Given the description of an element on the screen output the (x, y) to click on. 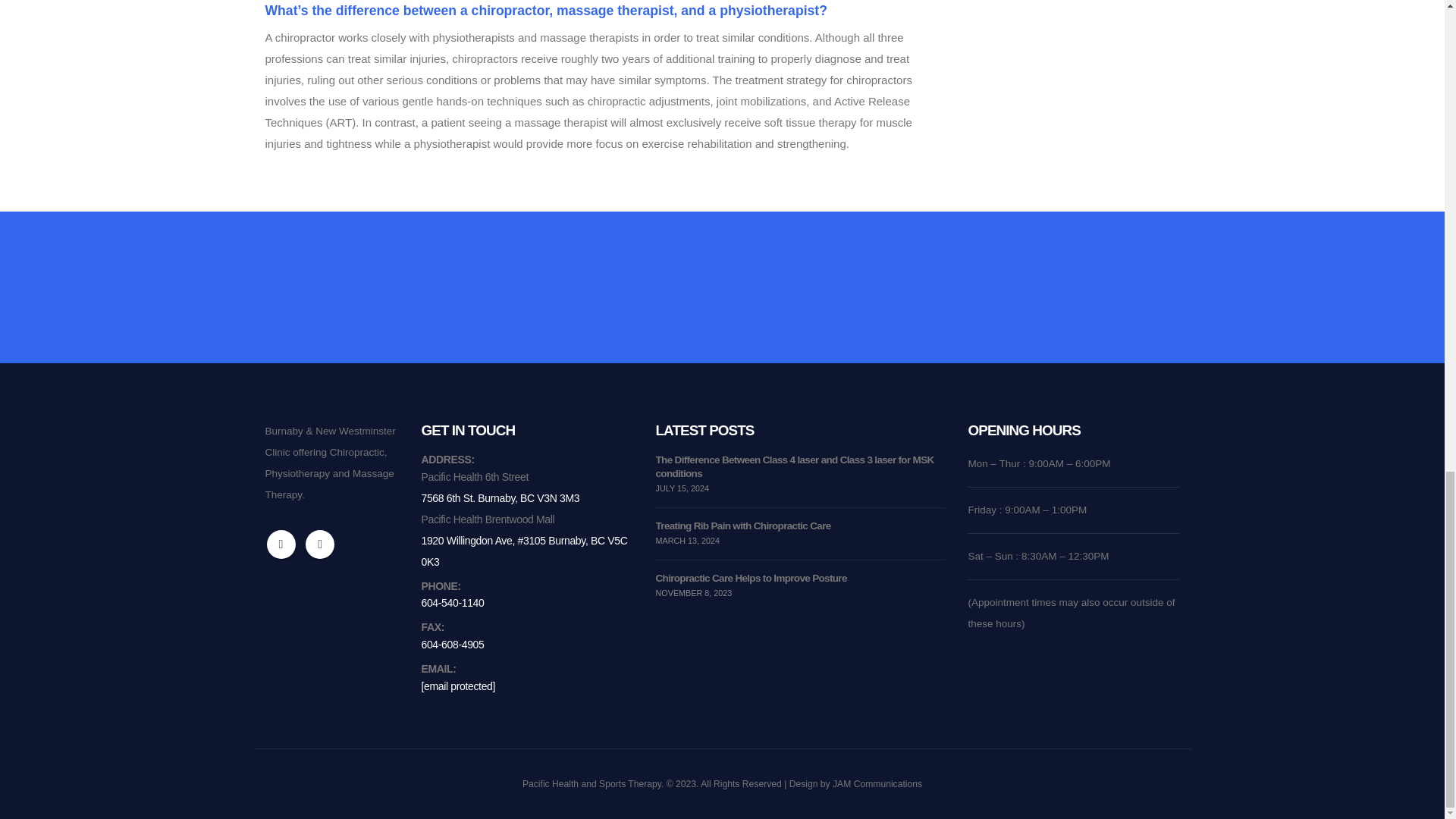
Facebook (280, 543)
Instagram (319, 543)
